Given the description of an element on the screen output the (x, y) to click on. 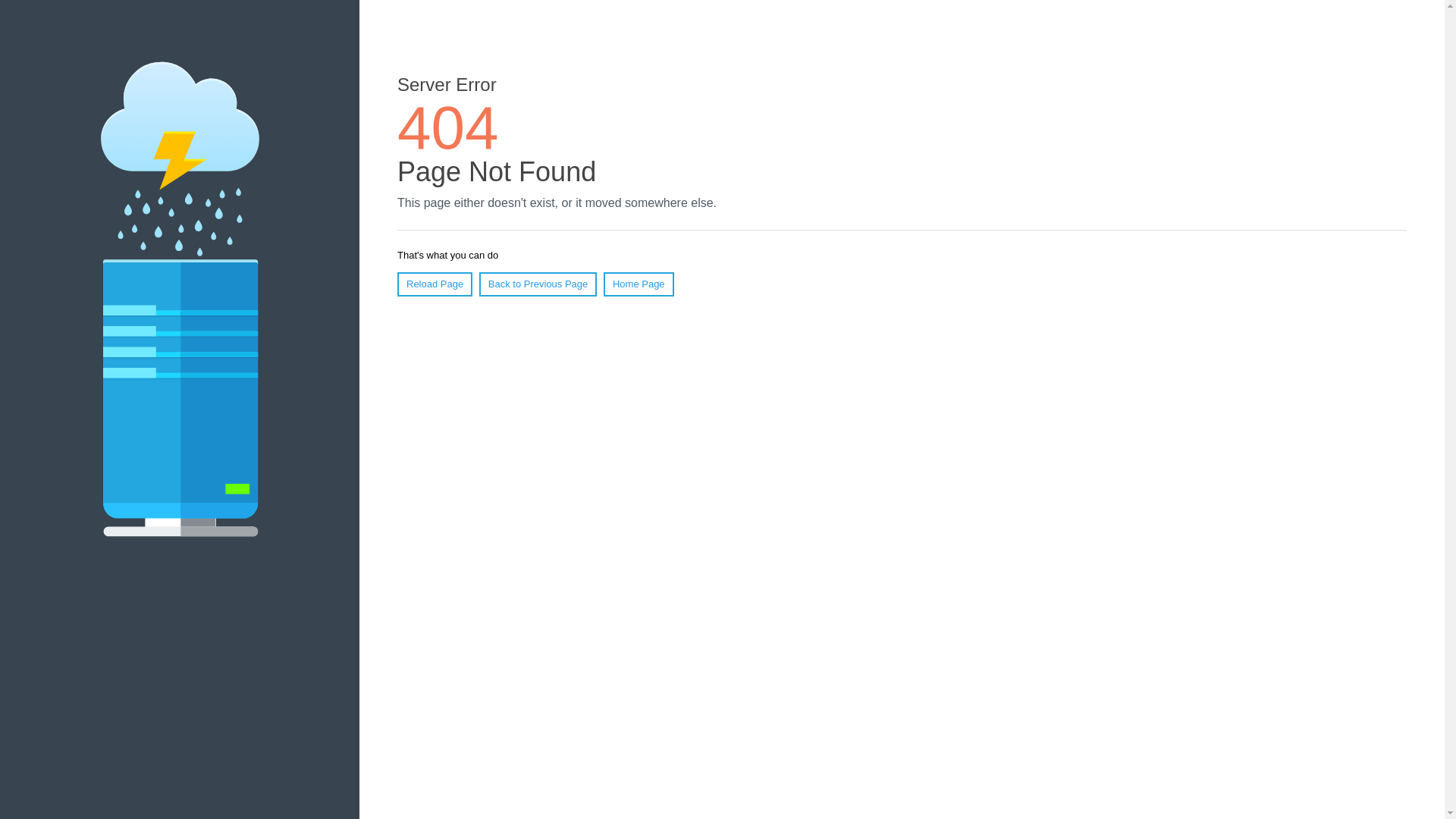
Back to Previous Page Element type: text (538, 284)
Reload Page Element type: text (434, 284)
Home Page Element type: text (638, 284)
